Given the description of an element on the screen output the (x, y) to click on. 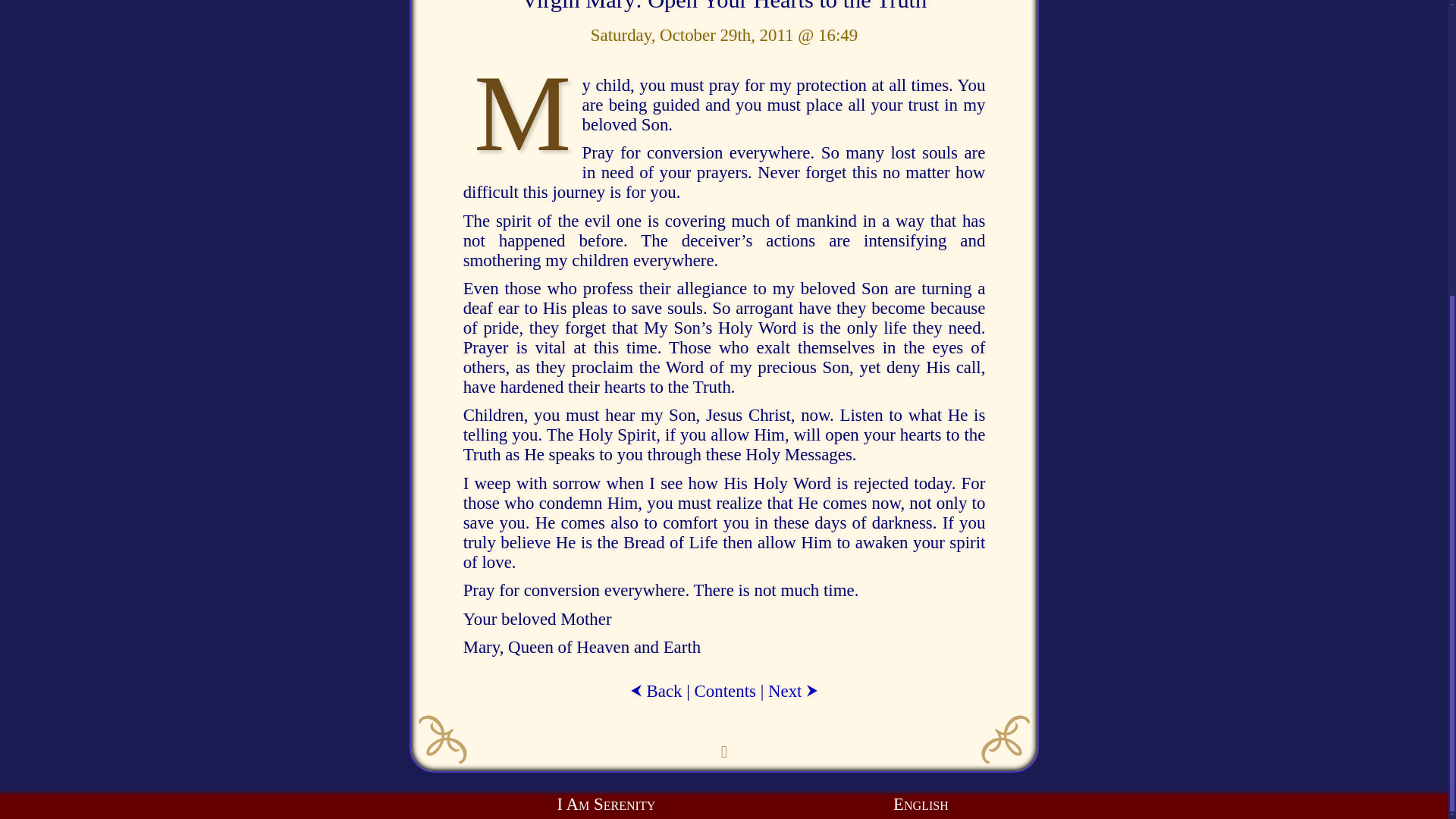
Contents (724, 691)
